Given the description of an element on the screen output the (x, y) to click on. 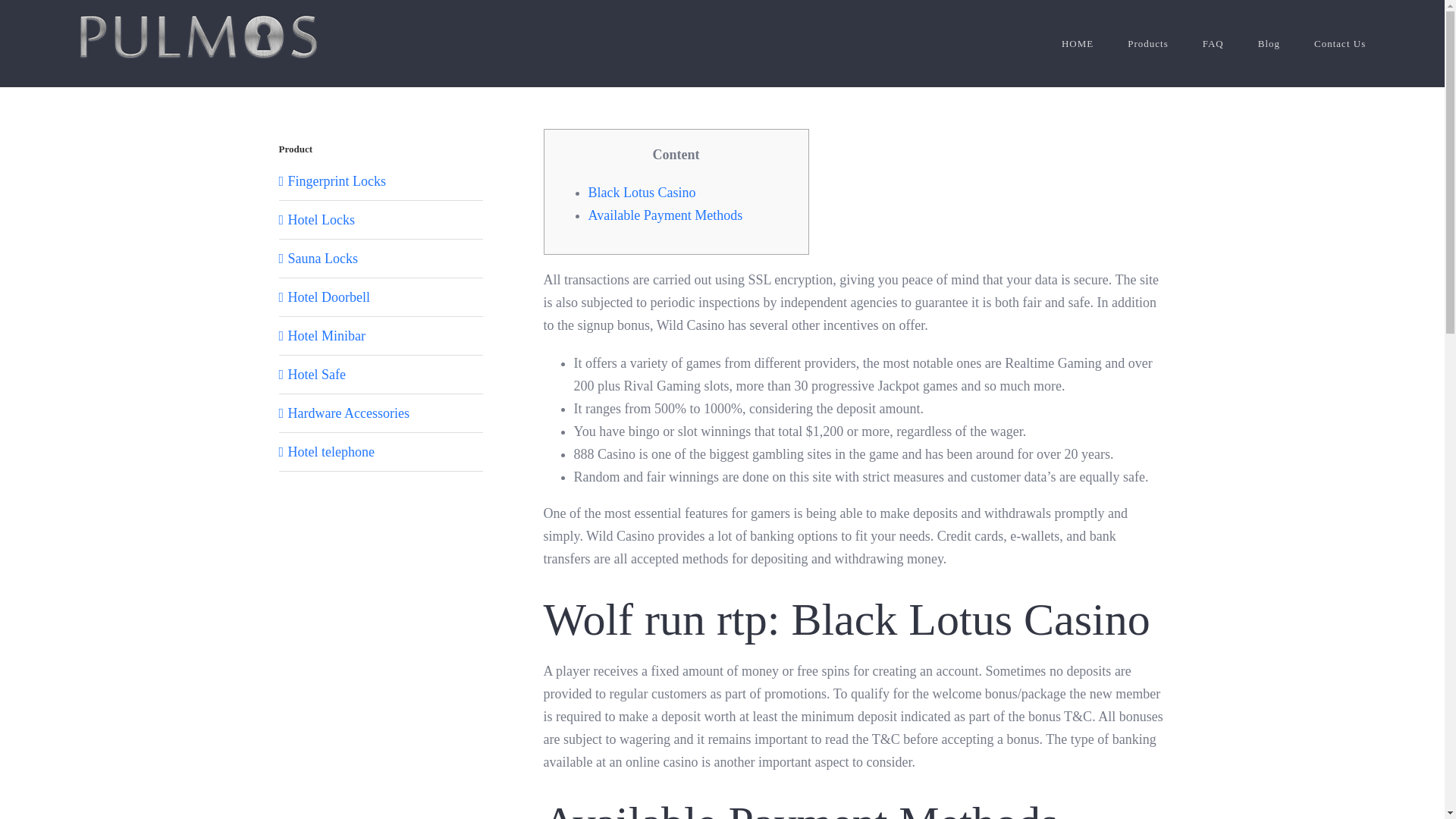
Black Lotus Casino (641, 192)
Hotel Doorbell (328, 296)
Available Payment Methods (665, 215)
Hotel Locks (321, 219)
Hotel Safe (317, 374)
Fingerprint Locks (336, 181)
Hotel Minibar (326, 335)
Sauna Locks (323, 258)
